Given the description of an element on the screen output the (x, y) to click on. 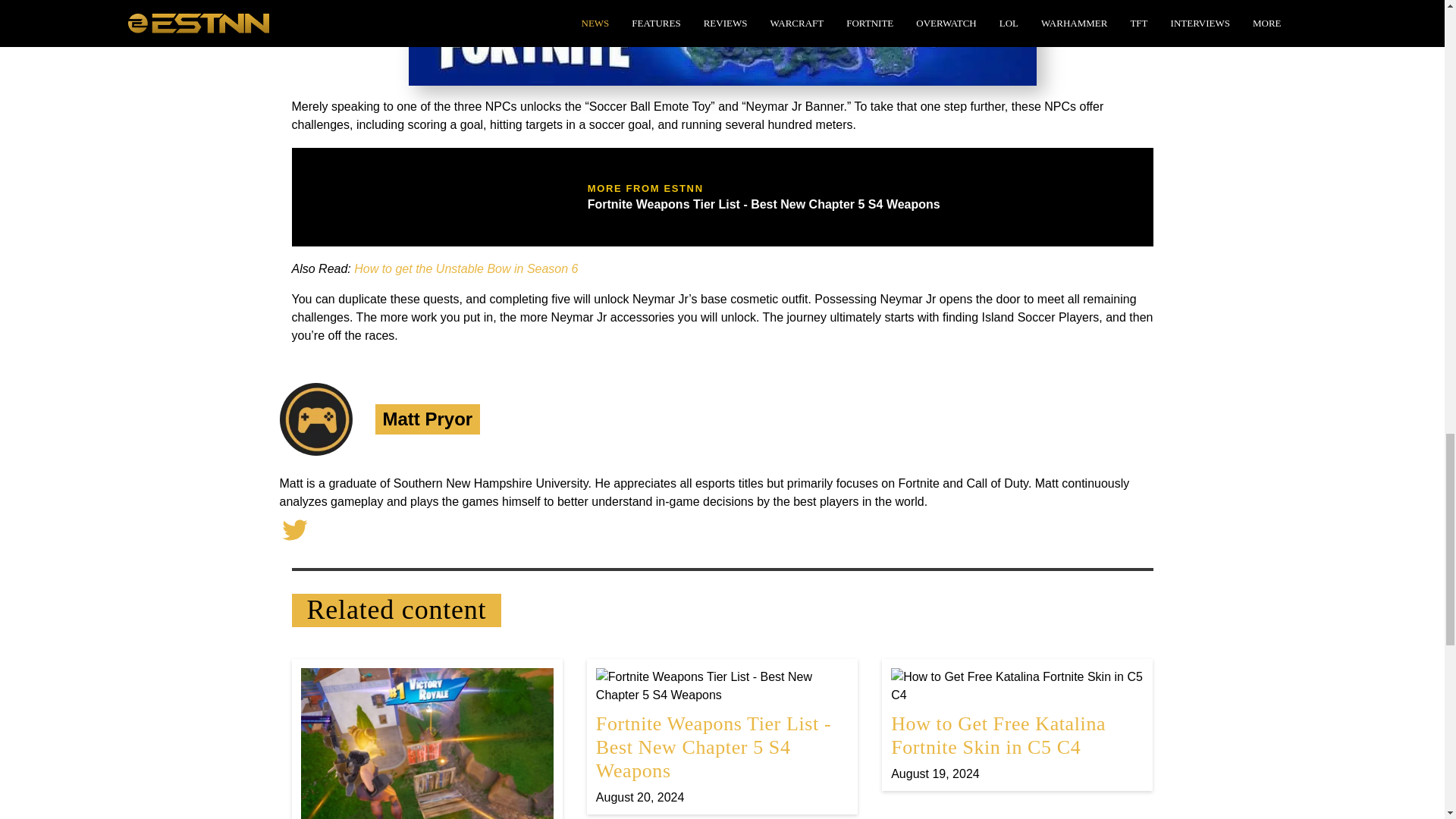
twitter Matt Pryor (293, 529)
Fortnite Weapons Tier List - Best New Chapter 5 S4 Weapons (721, 736)
How to Get Free Katalina Fortnite Skin in C5 C4 (1016, 725)
Matt Pryor (426, 418)
How to get the Unstable Bow in Season 6 (465, 268)
